Given the description of an element on the screen output the (x, y) to click on. 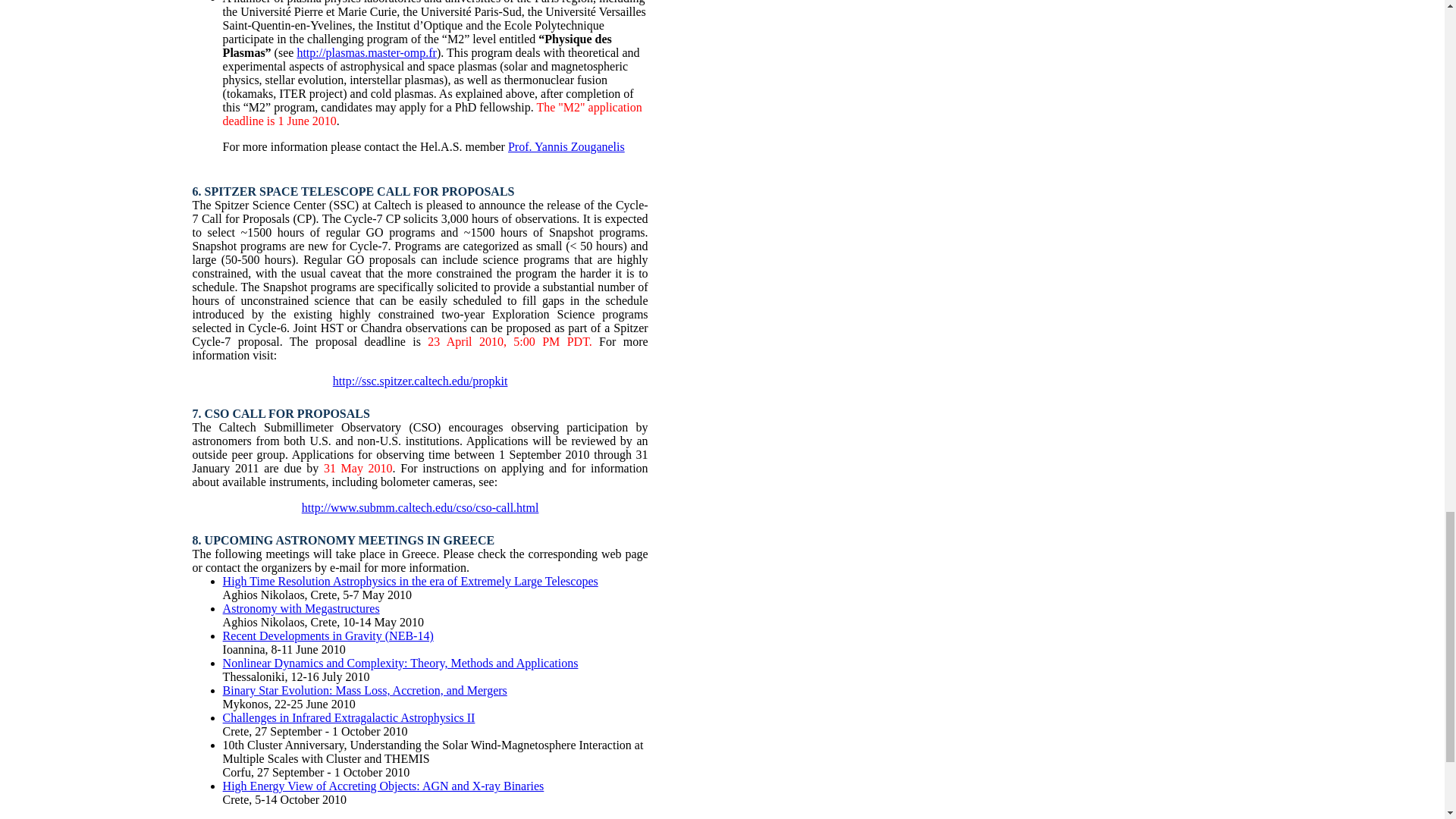
Prof. Yannis Zouganelis (566, 146)
Challenges in Infrared Extragalactic Astrophysics II (349, 717)
Astronomy with Megastructures (301, 608)
Binary Star Evolution: Mass Loss, Accretion, and Mergers (364, 689)
